Given the description of an element on the screen output the (x, y) to click on. 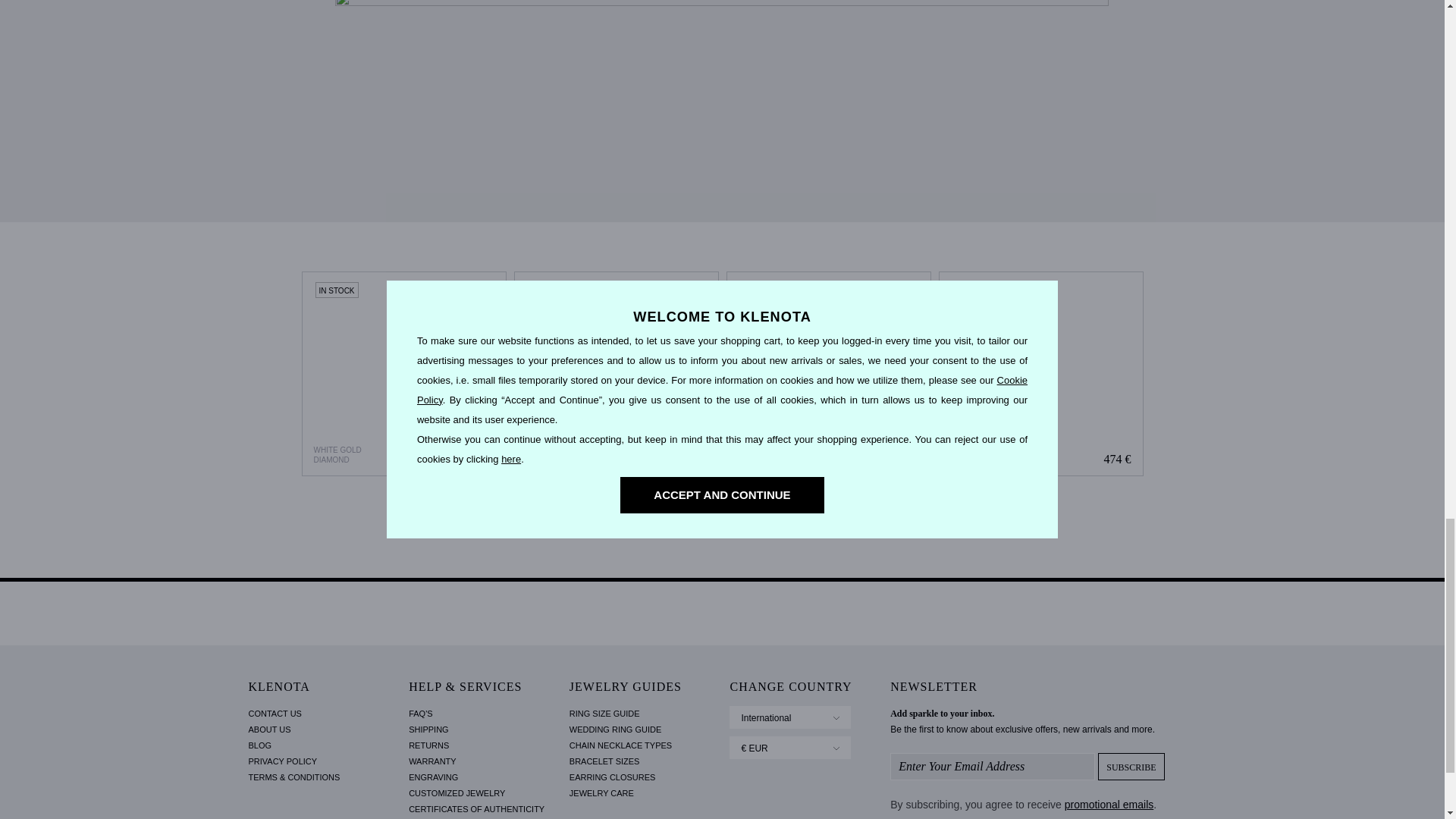
Bezel Ring with Brilliant in White Gold (1040, 373)
Half Carat Diamond Ring in White Gold (403, 373)
Gentle Ring in Pink Gold with Diamond (616, 373)
Classic Engagement Ring in White Gold with a Diamond (828, 373)
Half Carat Diamond Ring in White Gold (403, 373)
Gentle Ring in Pink Gold with Diamond (615, 373)
Classic Engagement Ring in White Gold with a Diamond (828, 373)
Bezel Ring with Brilliant in White Gold (1040, 373)
